Given the description of an element on the screen output the (x, y) to click on. 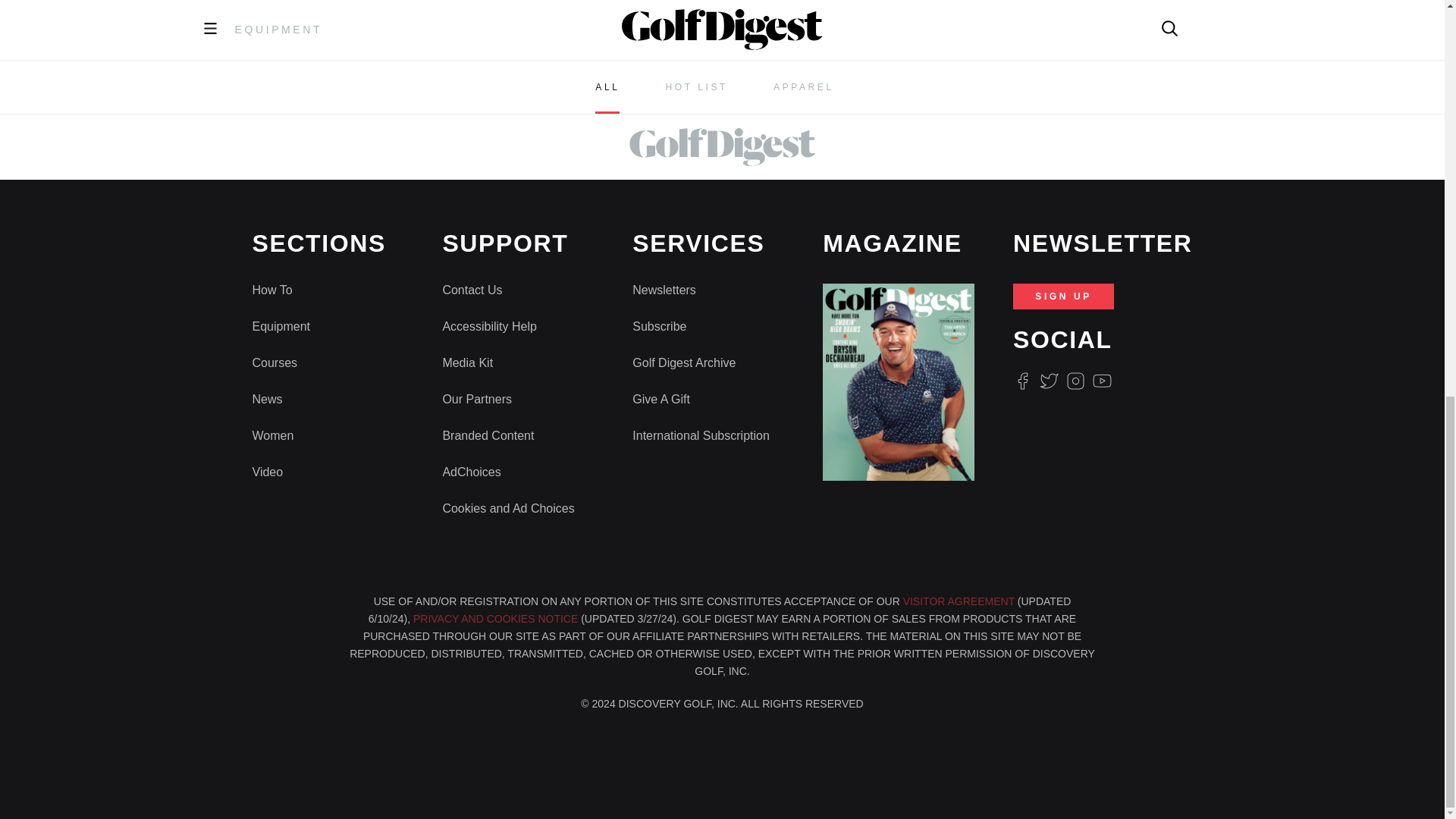
Instagram Logo (1074, 380)
Facebook Logo (1022, 380)
Youtube Icon (1102, 380)
Twitter Logo (1048, 380)
